Given the description of an element on the screen output the (x, y) to click on. 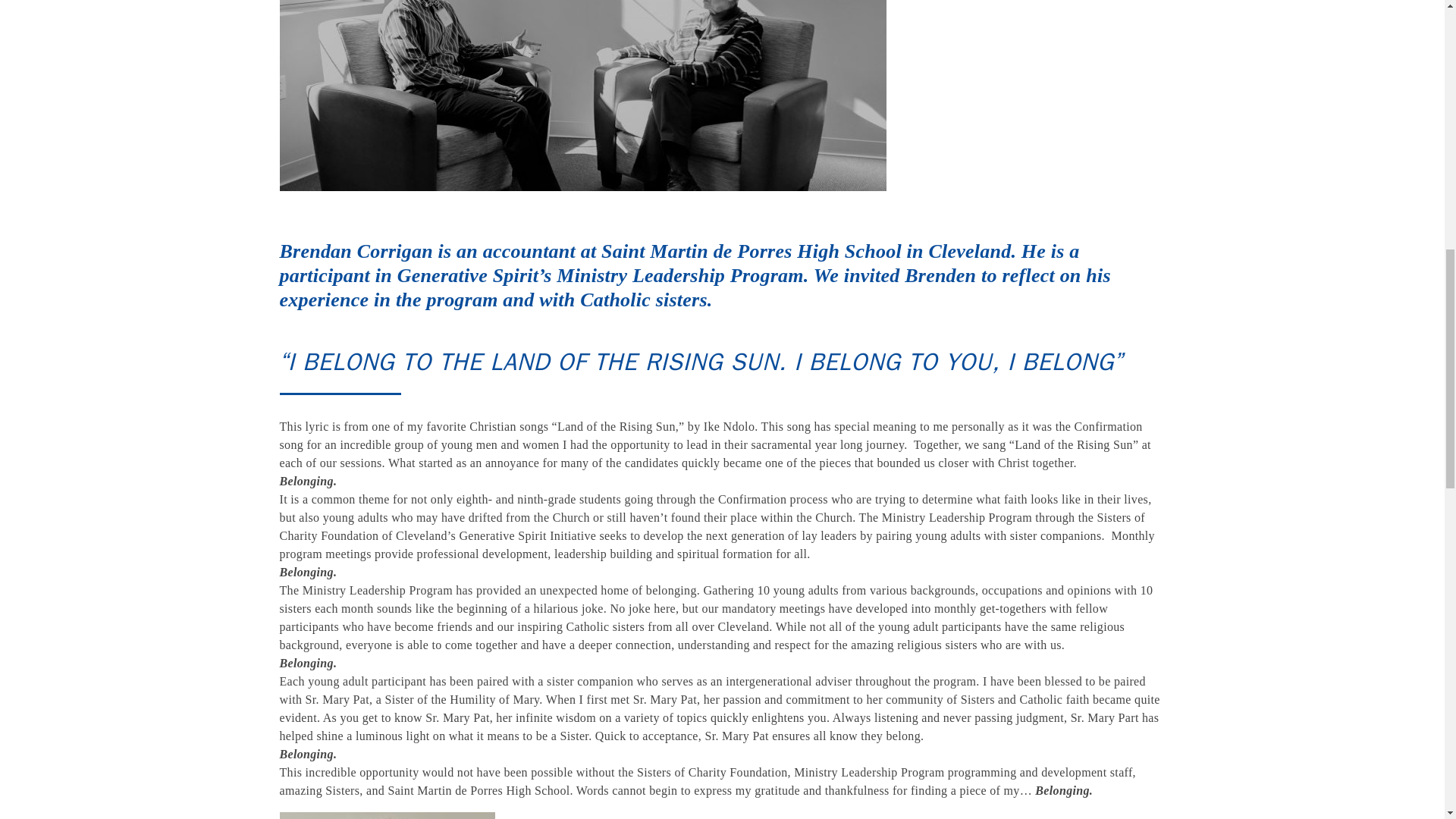
Ministry Leadership Program (679, 275)
